Given the description of an element on the screen output the (x, y) to click on. 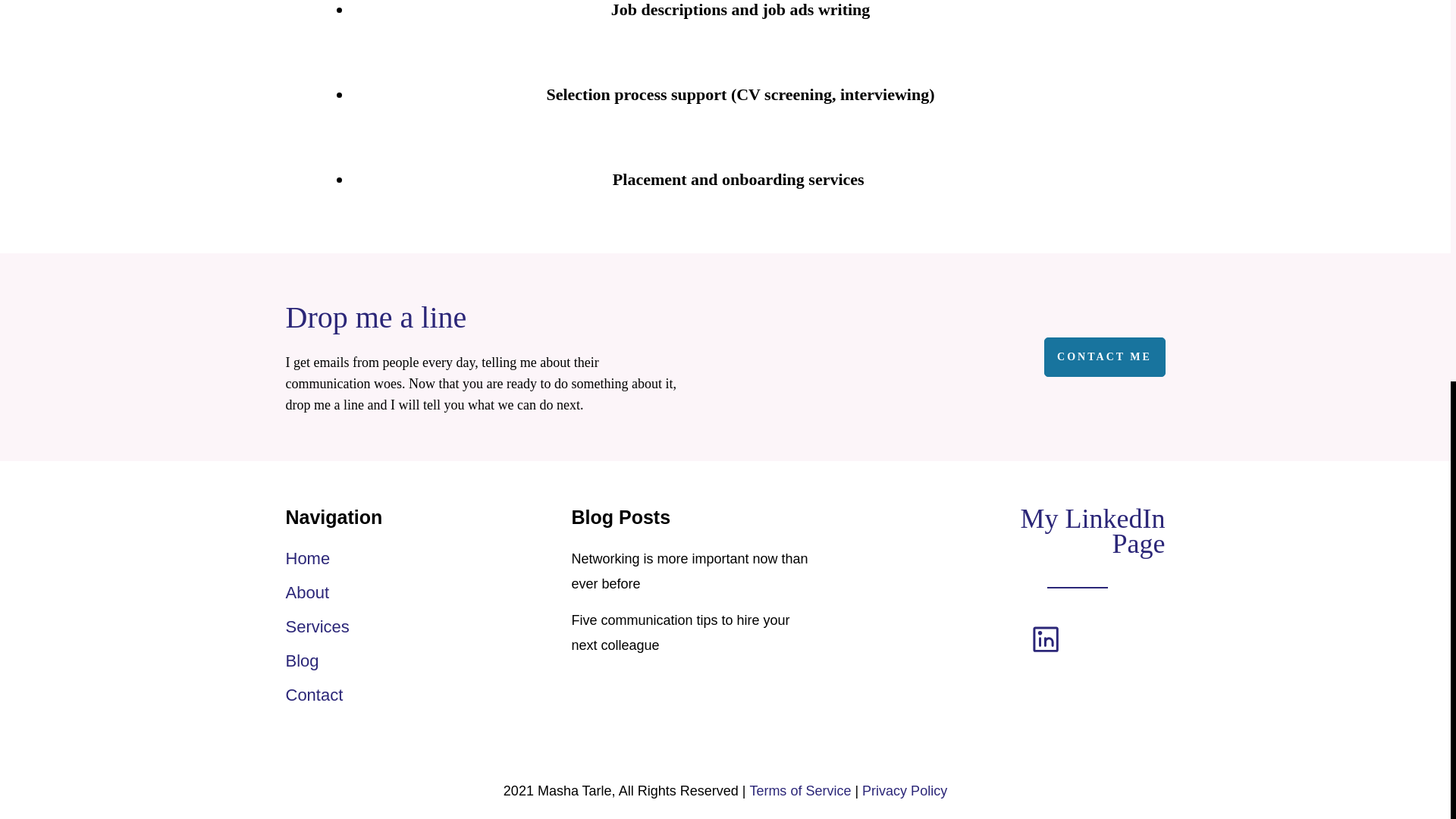
Five communication tips to hire your next colleague (681, 632)
Terms of Service (799, 790)
Contact (313, 694)
CONTACT ME (1103, 356)
About (307, 592)
Services (317, 626)
Five communication tips to hire your next colleague (681, 632)
Home (307, 558)
Privacy Policy (904, 790)
Networking is more important now than ever before (690, 571)
Networking is more important now than ever before (690, 571)
Blog (301, 661)
